Given the description of an element on the screen output the (x, y) to click on. 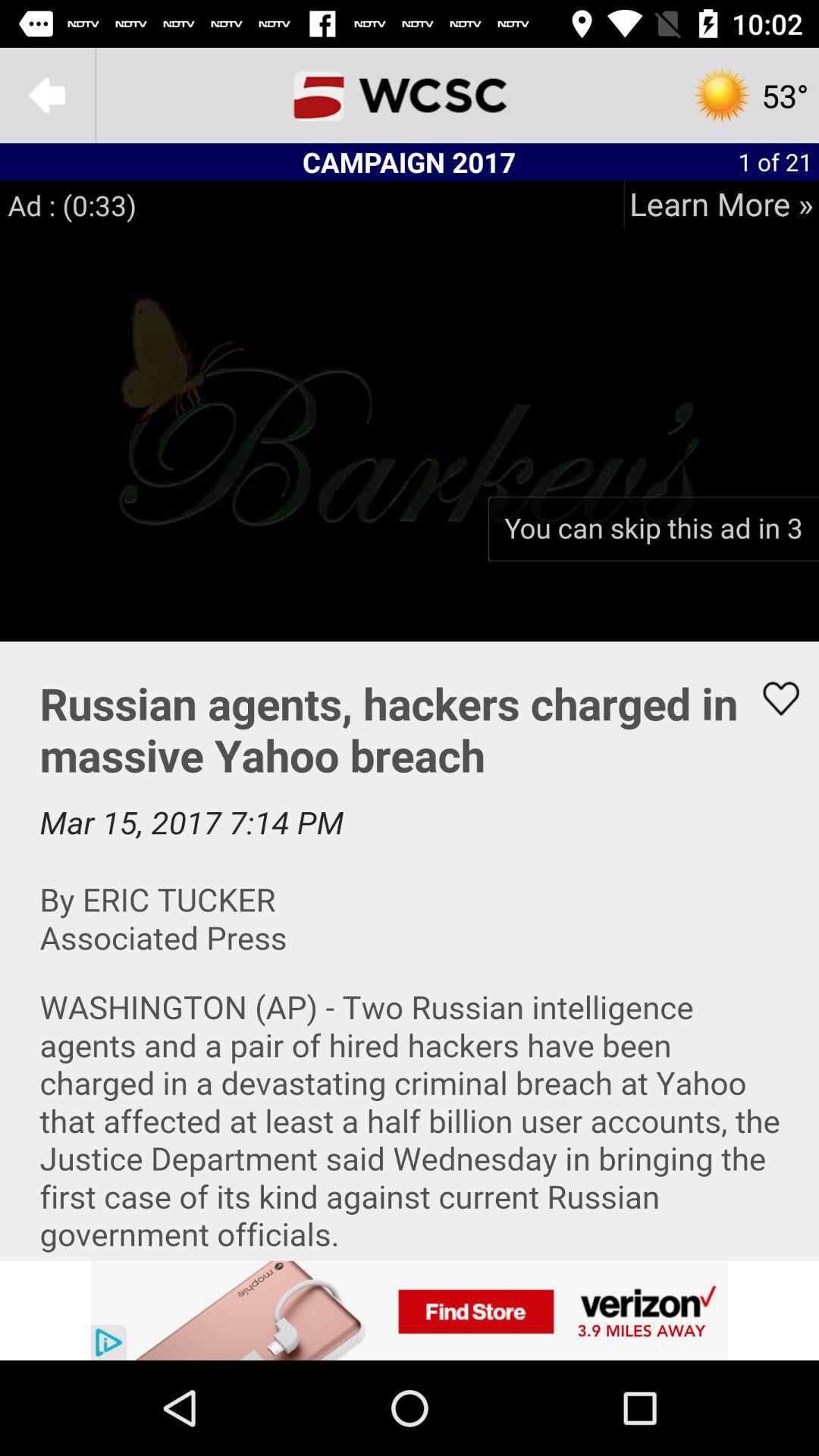
go back (47, 95)
